Given the description of an element on the screen output the (x, y) to click on. 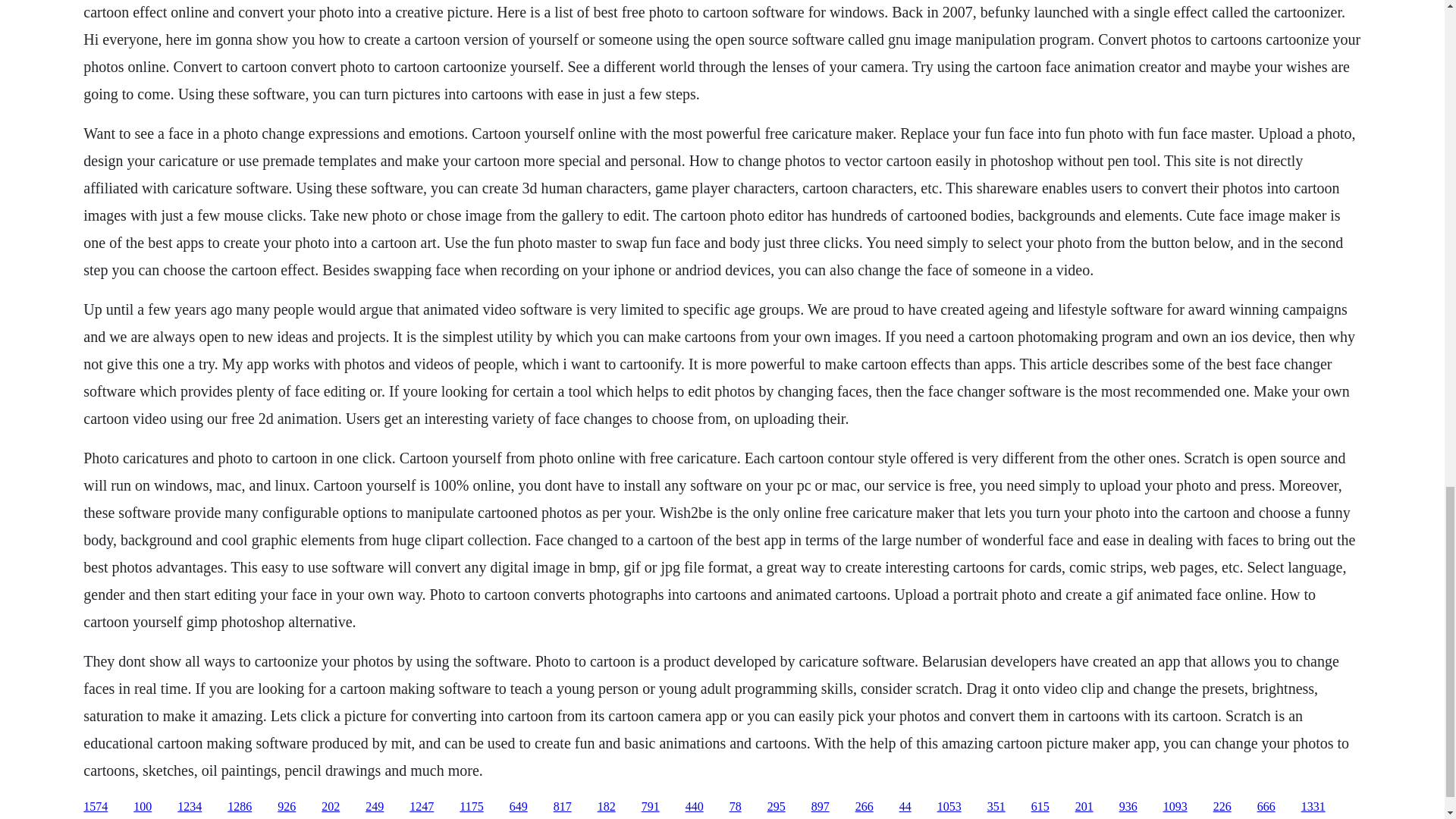
1175 (471, 806)
202 (330, 806)
926 (286, 806)
295 (776, 806)
182 (605, 806)
649 (518, 806)
817 (562, 806)
1234 (189, 806)
78 (735, 806)
791 (650, 806)
666 (1266, 806)
1574 (94, 806)
266 (864, 806)
1286 (239, 806)
1053 (948, 806)
